Given the description of an element on the screen output the (x, y) to click on. 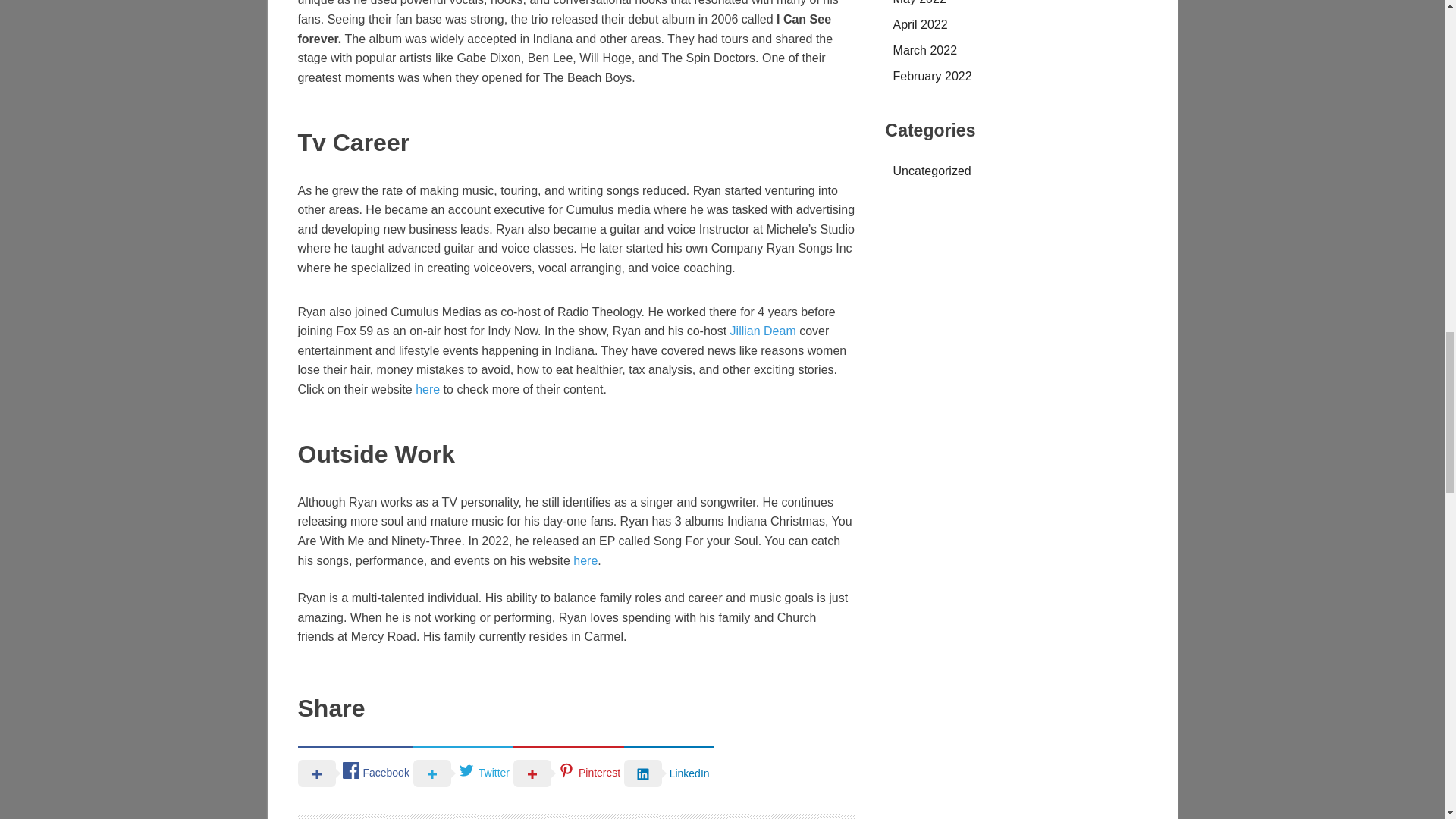
LinkedIn (668, 772)
here (426, 389)
here (584, 559)
Twitter (463, 772)
Facebook (354, 772)
Jillian Deam (763, 330)
Pinterest (568, 772)
